Given the description of an element on the screen output the (x, y) to click on. 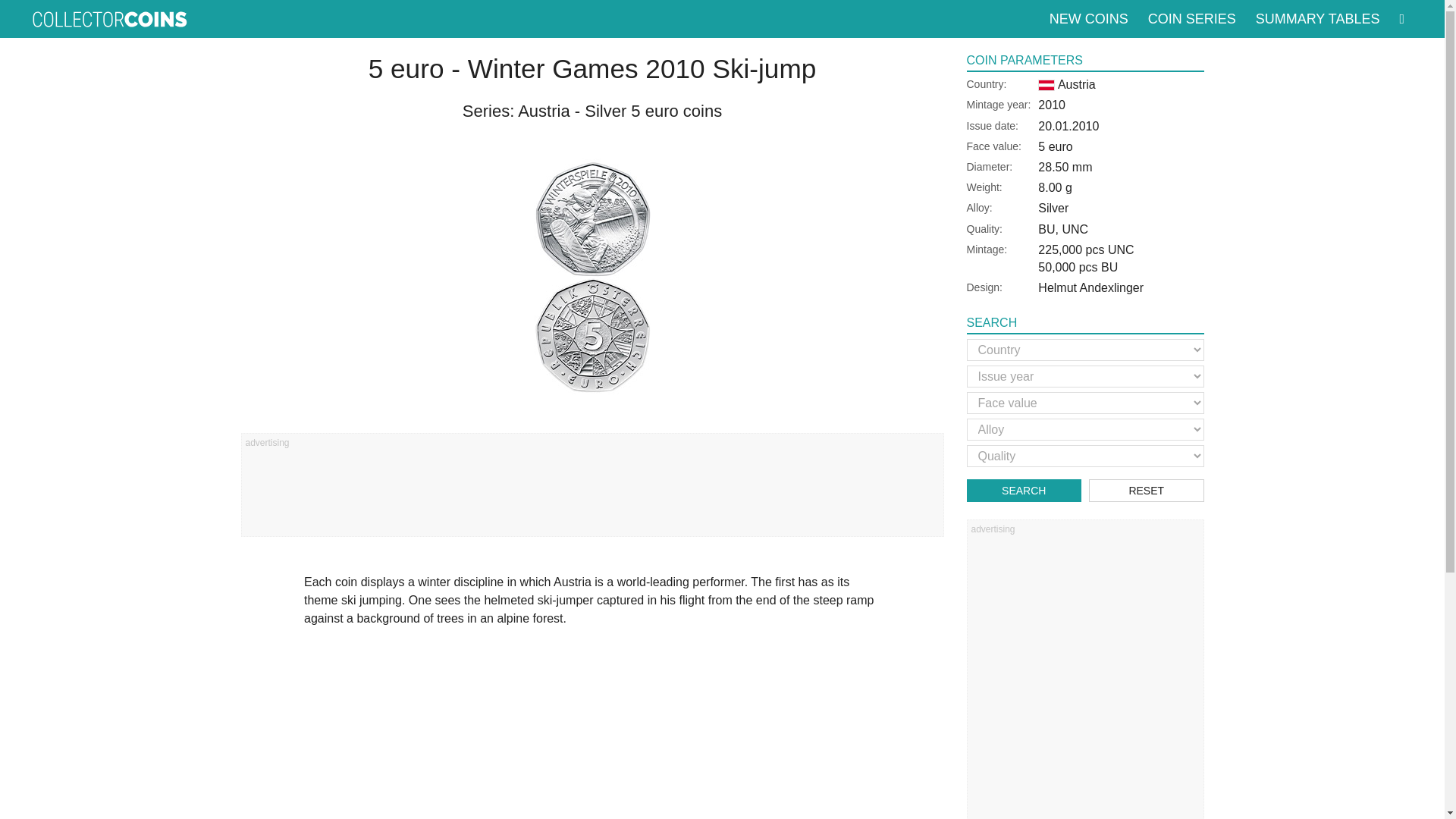
Show coins 2010 from Austria (1051, 104)
Country summary coin tables (1317, 19)
SUMMARY TABLES (1317, 19)
Coin series Silver 5 euro coins from Austria (620, 110)
COIN SERIES (1191, 19)
Collector and commemorative coins (108, 18)
List of the coin series (1191, 19)
Advertisement (592, 489)
NEW COINS (1088, 19)
Show coins from Austria (1066, 83)
SEARCH (1023, 490)
RESET (1146, 490)
New coins in the database (1088, 19)
2010 (1051, 104)
Austria (1066, 83)
